Given the description of an element on the screen output the (x, y) to click on. 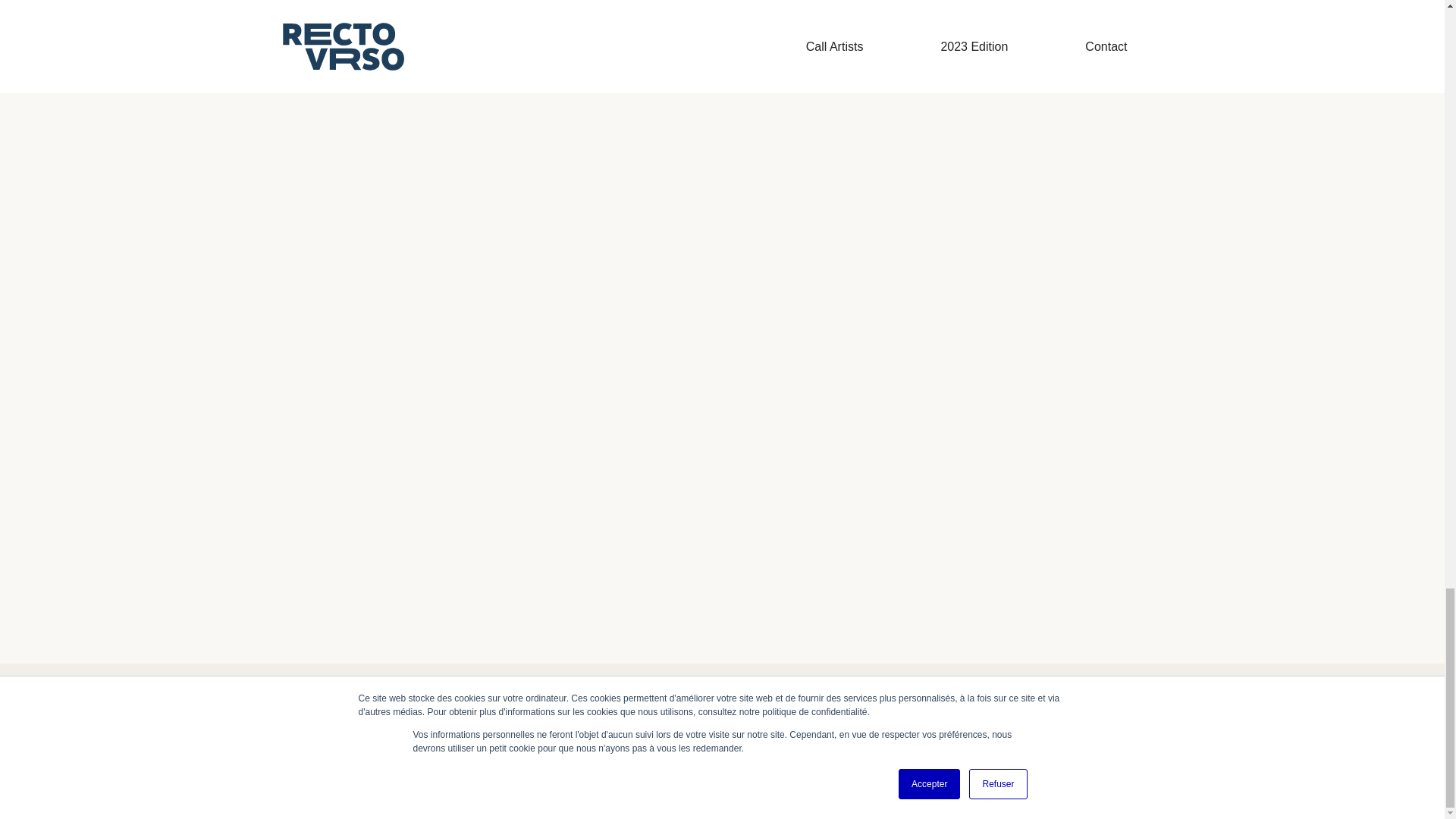
Terms of use (320, 789)
